Given the description of an element on the screen output the (x, y) to click on. 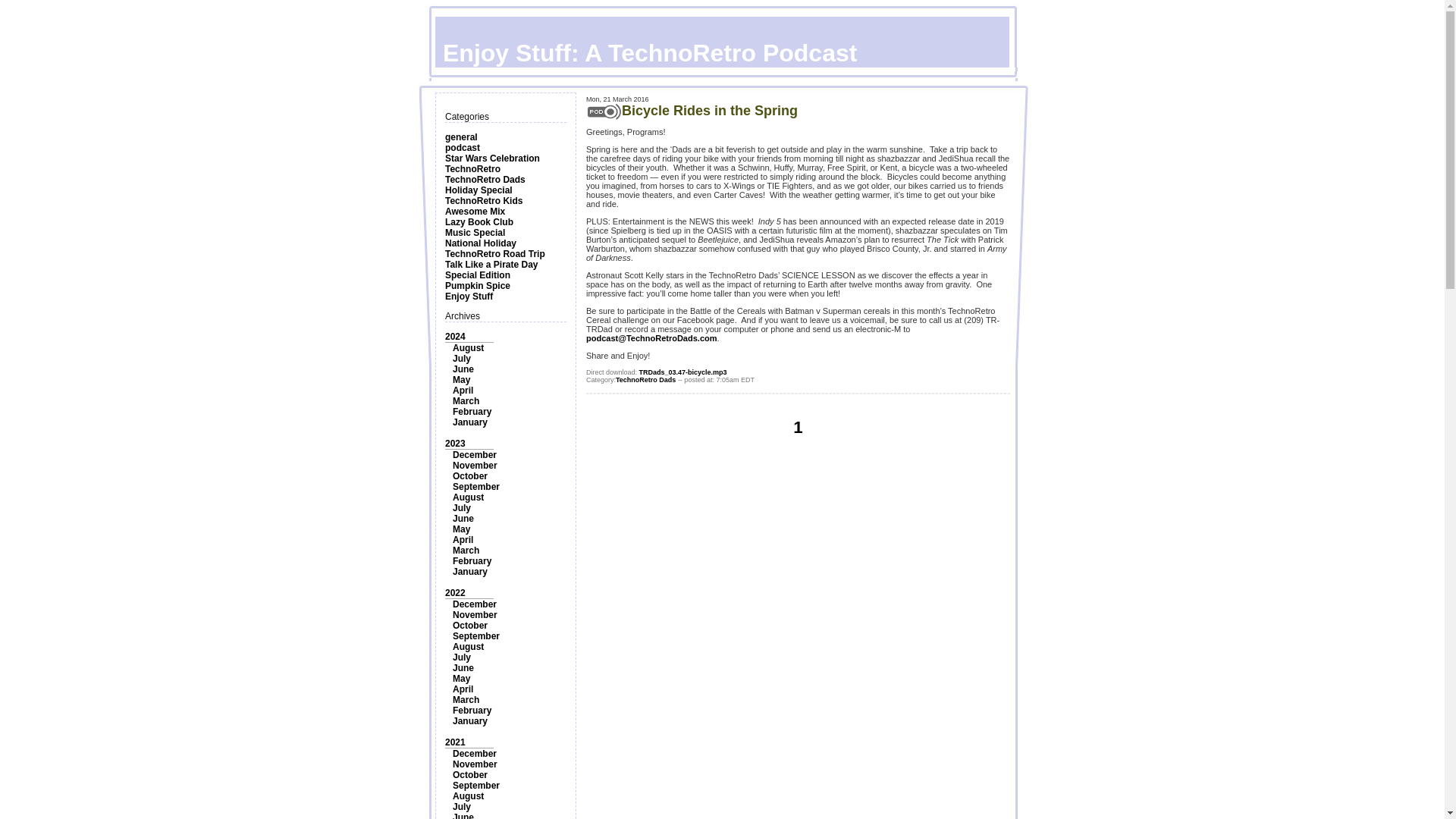
2023 (455, 443)
TechnoRetro Dads (485, 179)
TechnoRetro Road Trip (494, 253)
April (462, 539)
Star Wars Celebration (492, 158)
March (465, 550)
Talk Like a Pirate Day (491, 264)
Awesome Mix (475, 211)
June (463, 518)
August (467, 497)
